Given the description of an element on the screen output the (x, y) to click on. 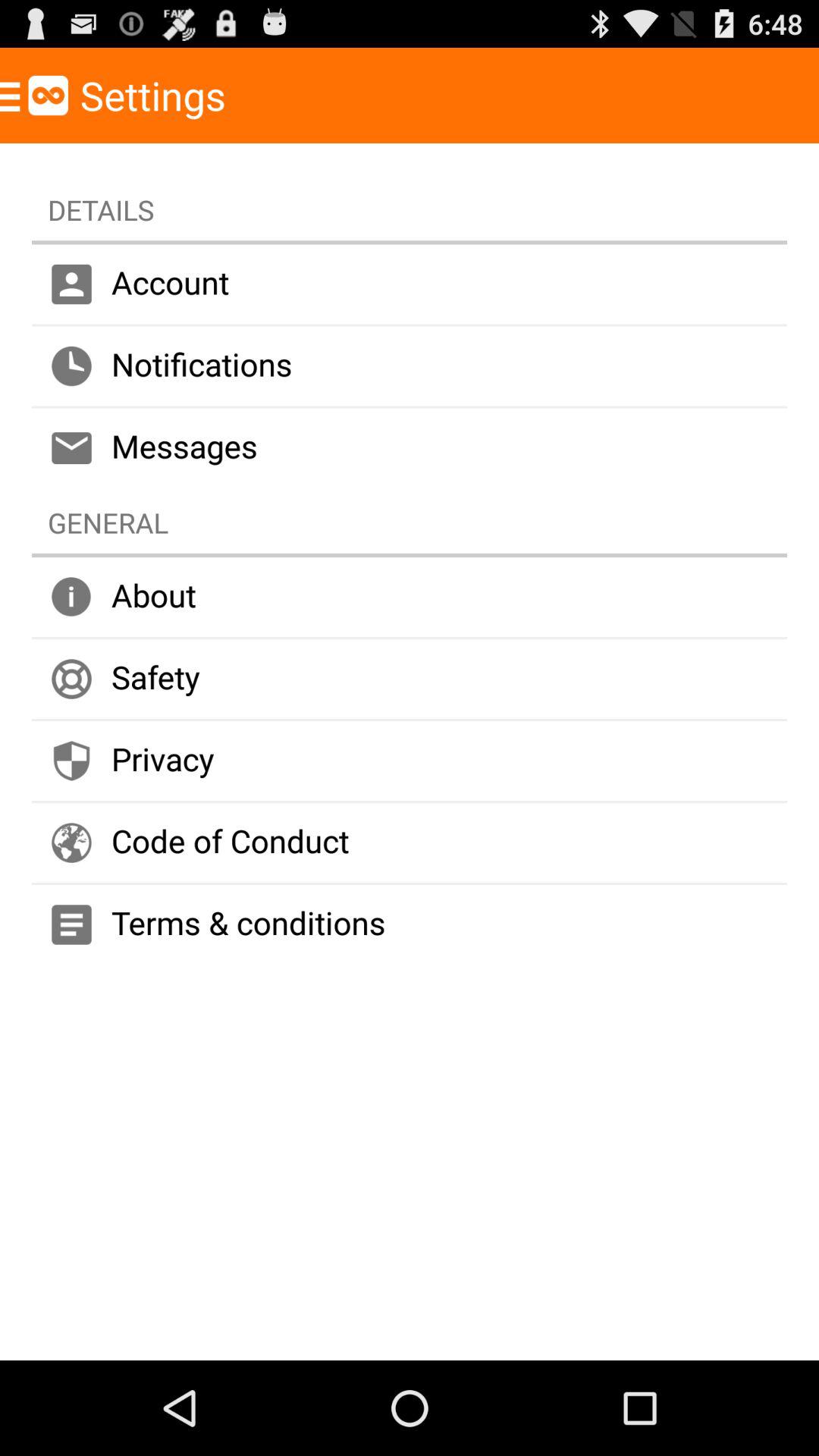
launch the item below safety item (409, 760)
